Given the description of an element on the screen output the (x, y) to click on. 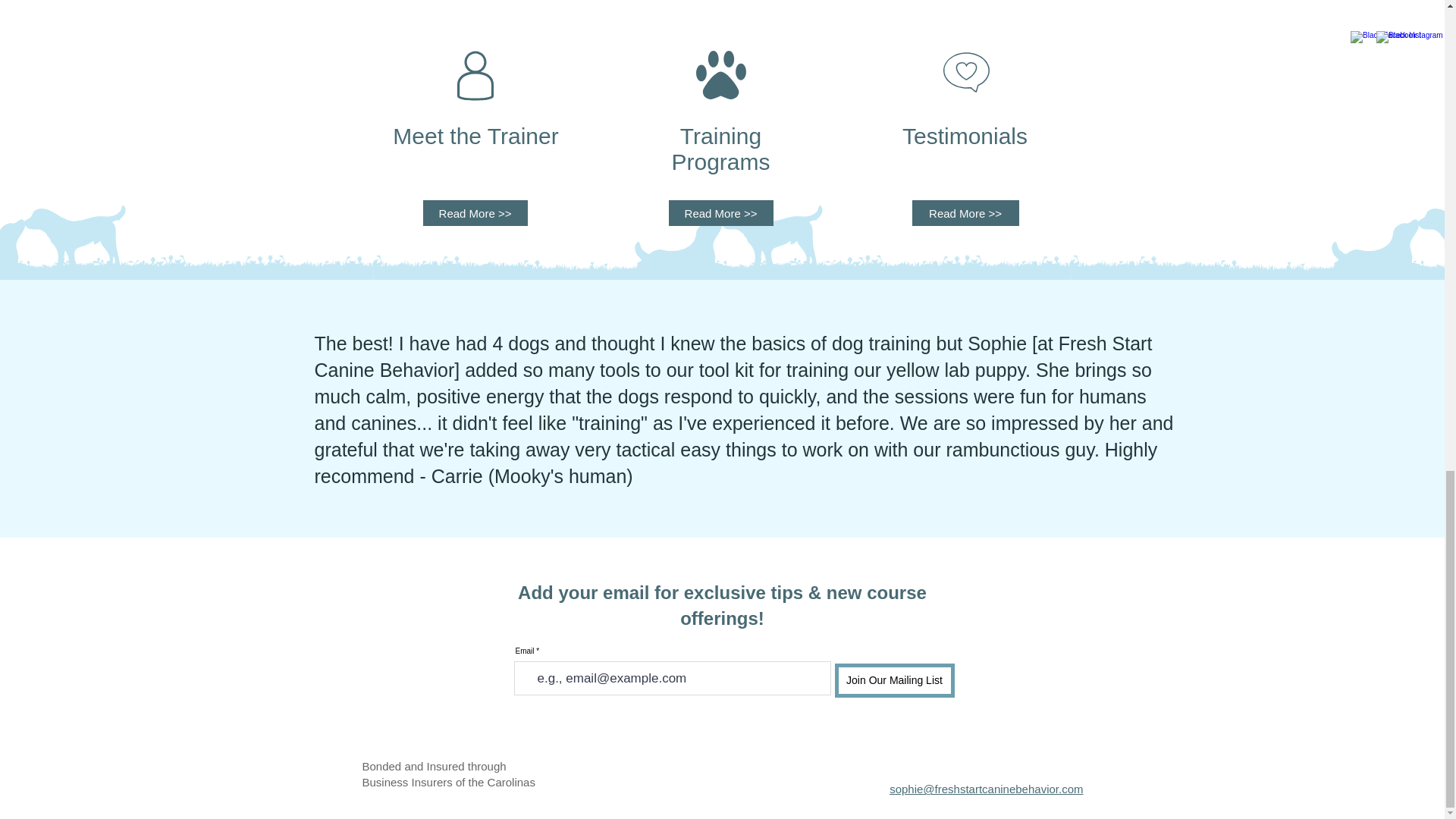
Join Our Mailing List (893, 680)
